Given the description of an element on the screen output the (x, y) to click on. 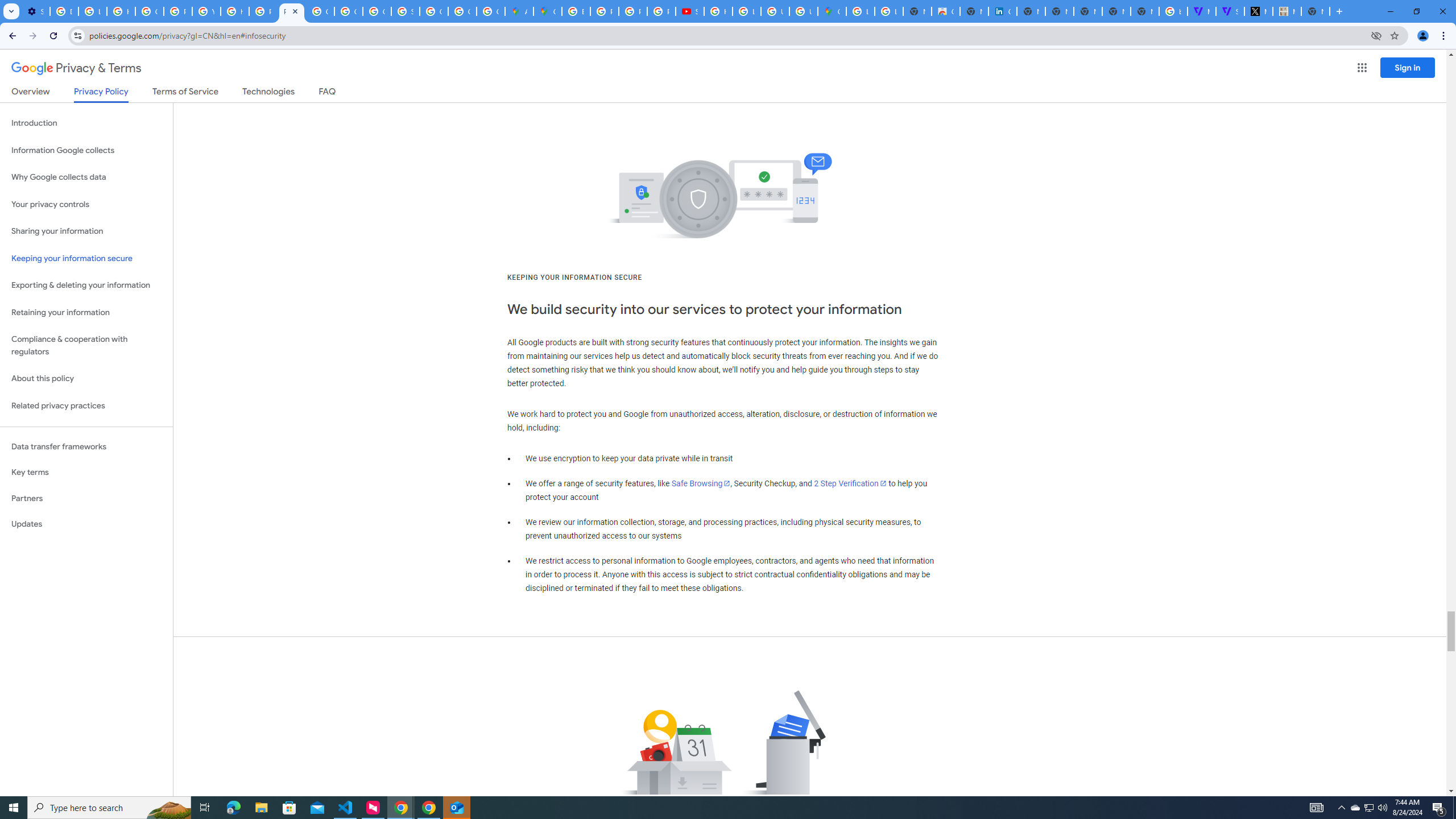
Chrome Web Store (945, 11)
Learn how to find your photos - Google Photos Help (92, 11)
Keeping your information secure (86, 258)
Cookie Policy | LinkedIn (1002, 11)
New Tab (1315, 11)
Sharing your information (86, 230)
Safe Browsing (700, 483)
